Given the description of an element on the screen output the (x, y) to click on. 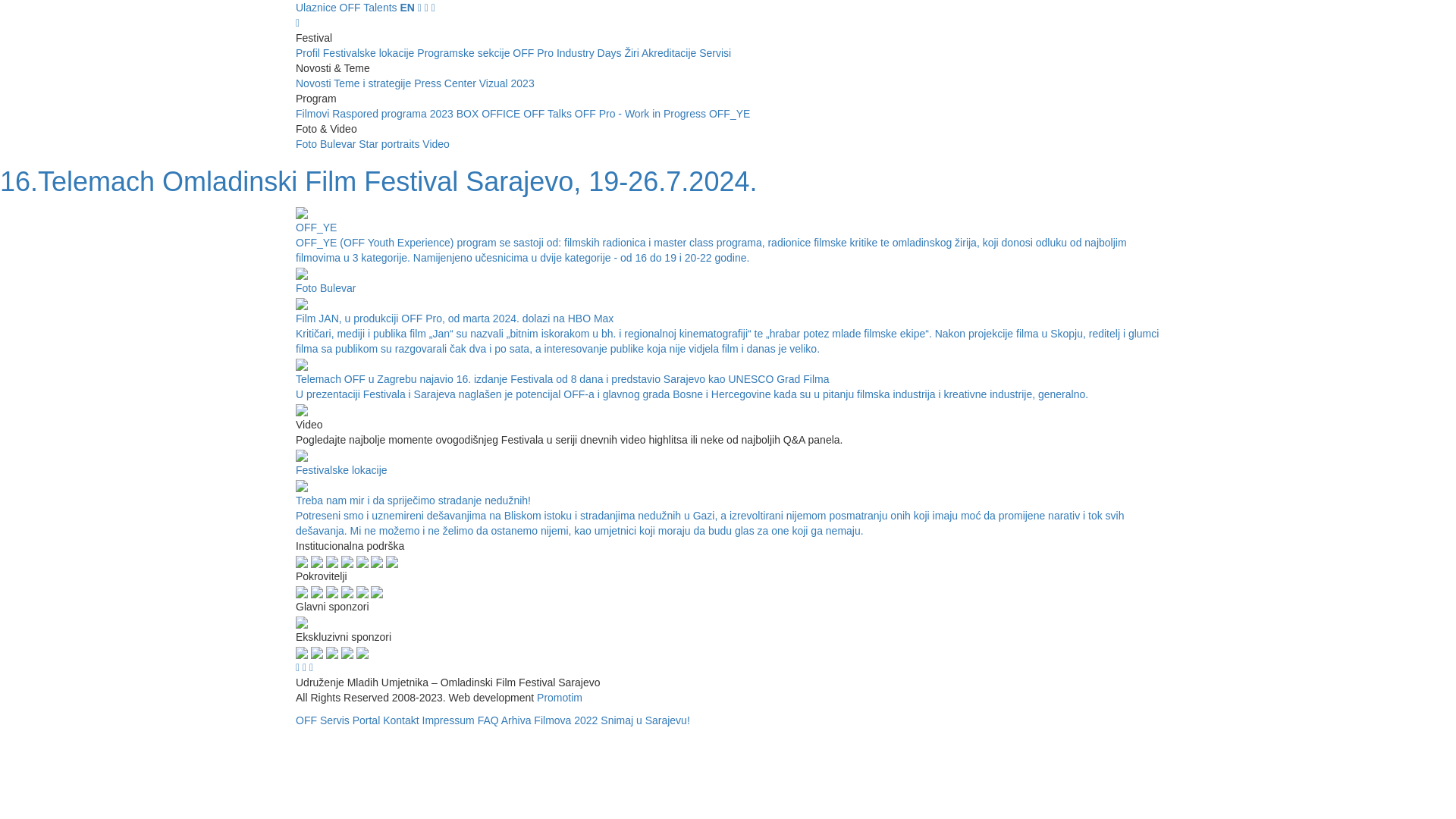
Festivalske lokacije Element type: text (370, 53)
OFF Servis Portal Element type: text (338, 720)
Vizual 2023 Element type: text (506, 83)
Video Element type: text (435, 144)
Ulaznice Element type: text (315, 7)
Arhiva Filmova 2022 Element type: text (549, 720)
Teme i strategije Element type: text (373, 83)
Foto Bulevar Element type: text (326, 144)
Servisi Element type: text (715, 53)
EN Element type: text (406, 7)
Raspored programa 2023 Element type: text (393, 113)
Festivalske lokacije Element type: text (727, 462)
Kontakt Element type: text (400, 720)
OFF Pro - Work in Progress Element type: text (641, 113)
Akreditacije Element type: text (670, 53)
OFF Talks Element type: text (548, 113)
Foto Bulevar Element type: text (727, 280)
Novosti Element type: text (314, 83)
Impressum Element type: text (448, 720)
Press Center Element type: text (446, 83)
OFF_YE Element type: text (729, 113)
Programske sekcije Element type: text (464, 53)
FAQ Element type: text (487, 720)
OFF Talents Element type: text (368, 7)
Profil Element type: text (309, 53)
Star portraits Element type: text (390, 144)
Snimaj u Sarajevu! Element type: text (645, 720)
OFF Pro Industry Days Element type: text (568, 53)
BOX OFFICE Element type: text (490, 113)
Promotim Element type: text (559, 697)
Filmovi Element type: text (313, 113)
